Given the description of an element on the screen output the (x, y) to click on. 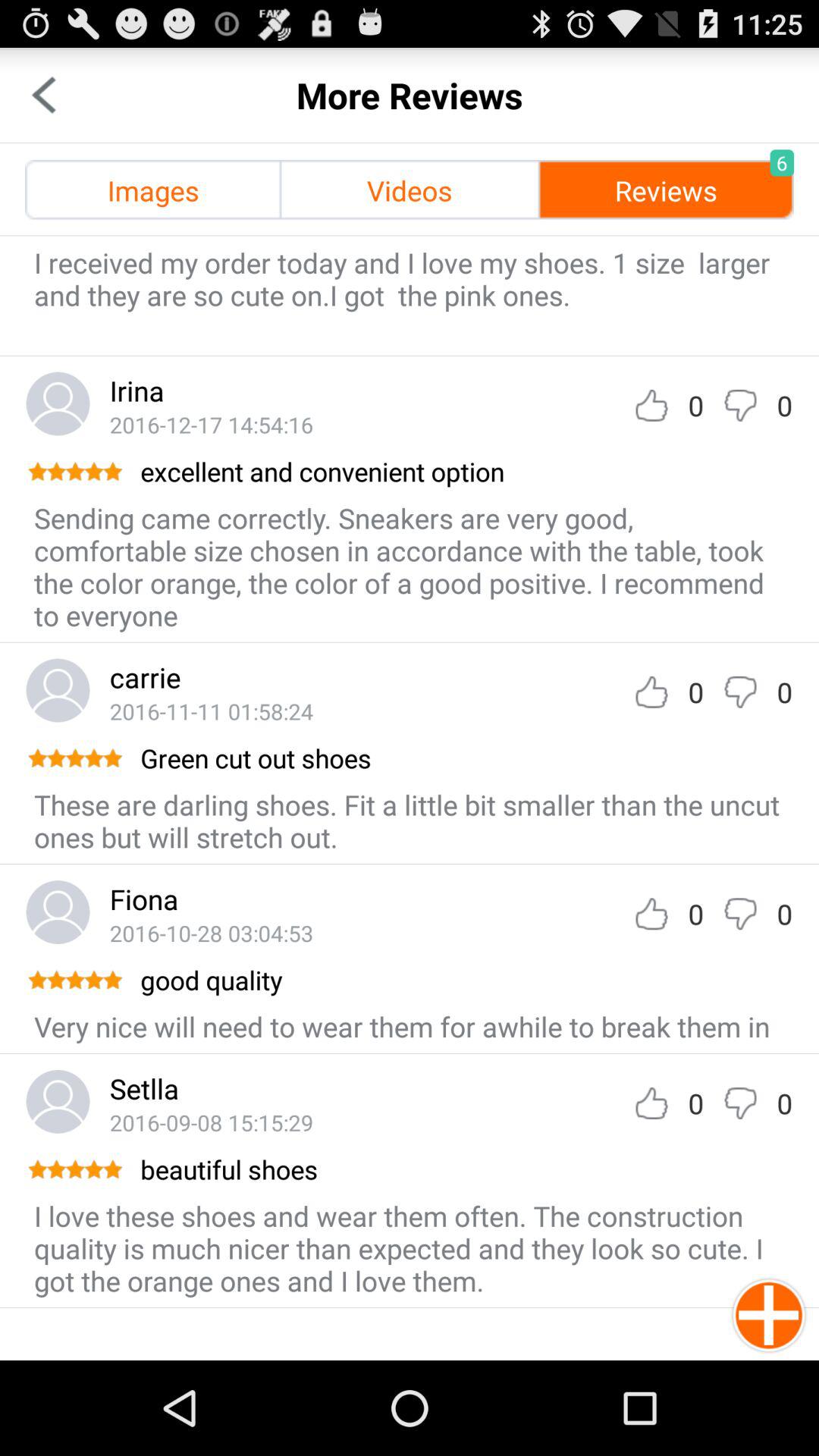
thumb down (740, 913)
